Given the description of an element on the screen output the (x, y) to click on. 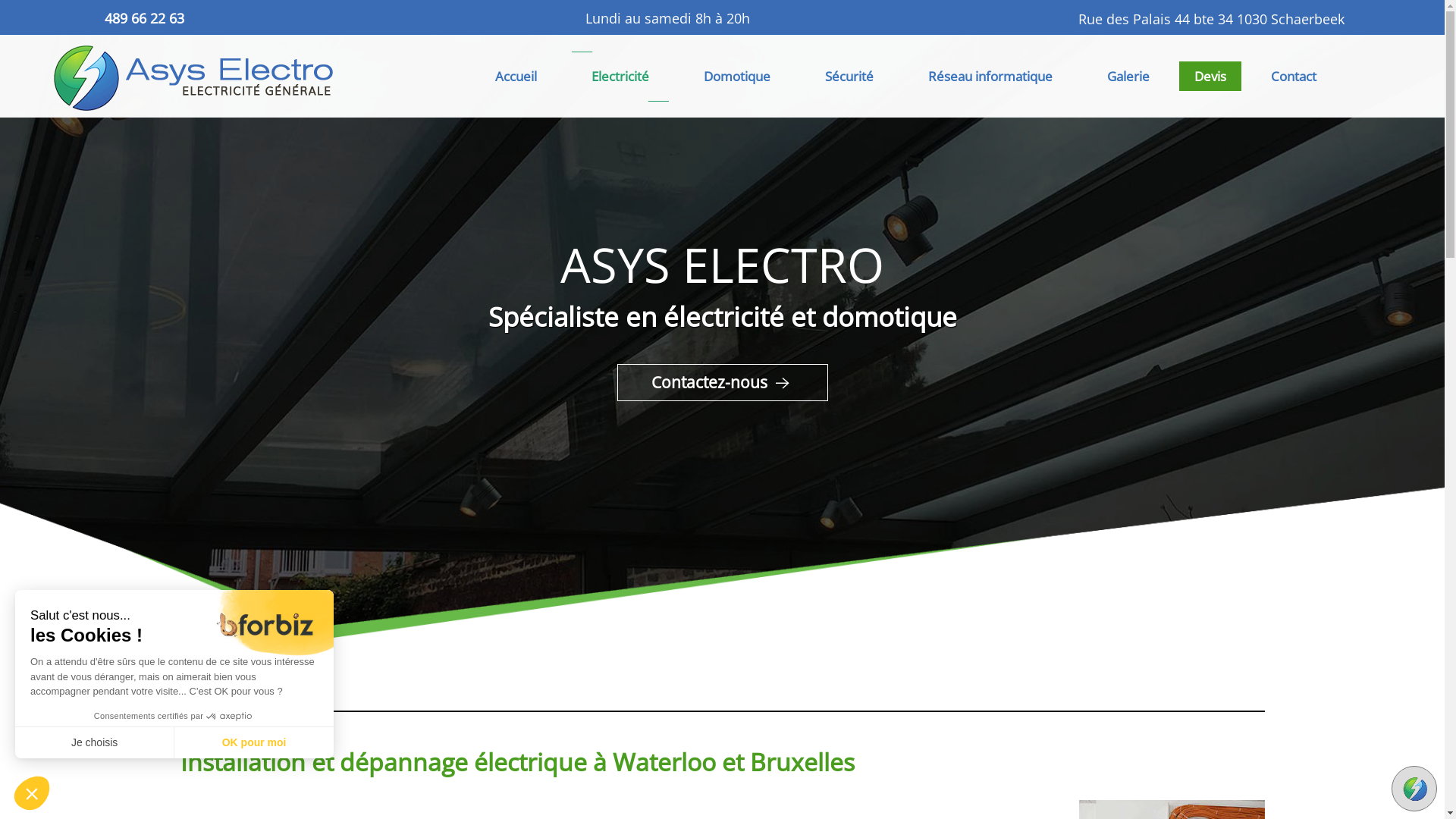
ASYS ELECTRO Element type: hover (172, 77)
Accueil Element type: text (515, 75)
To Top Element type: text (1414, 788)
Galerie Element type: text (1128, 75)
Contactez-nous Element type: text (722, 382)
489 66 22 63 Element type: text (144, 18)
Devis Element type: text (1210, 75)
Domotique Element type: text (736, 75)
Contact Element type: text (1293, 75)
